Given the description of an element on the screen output the (x, y) to click on. 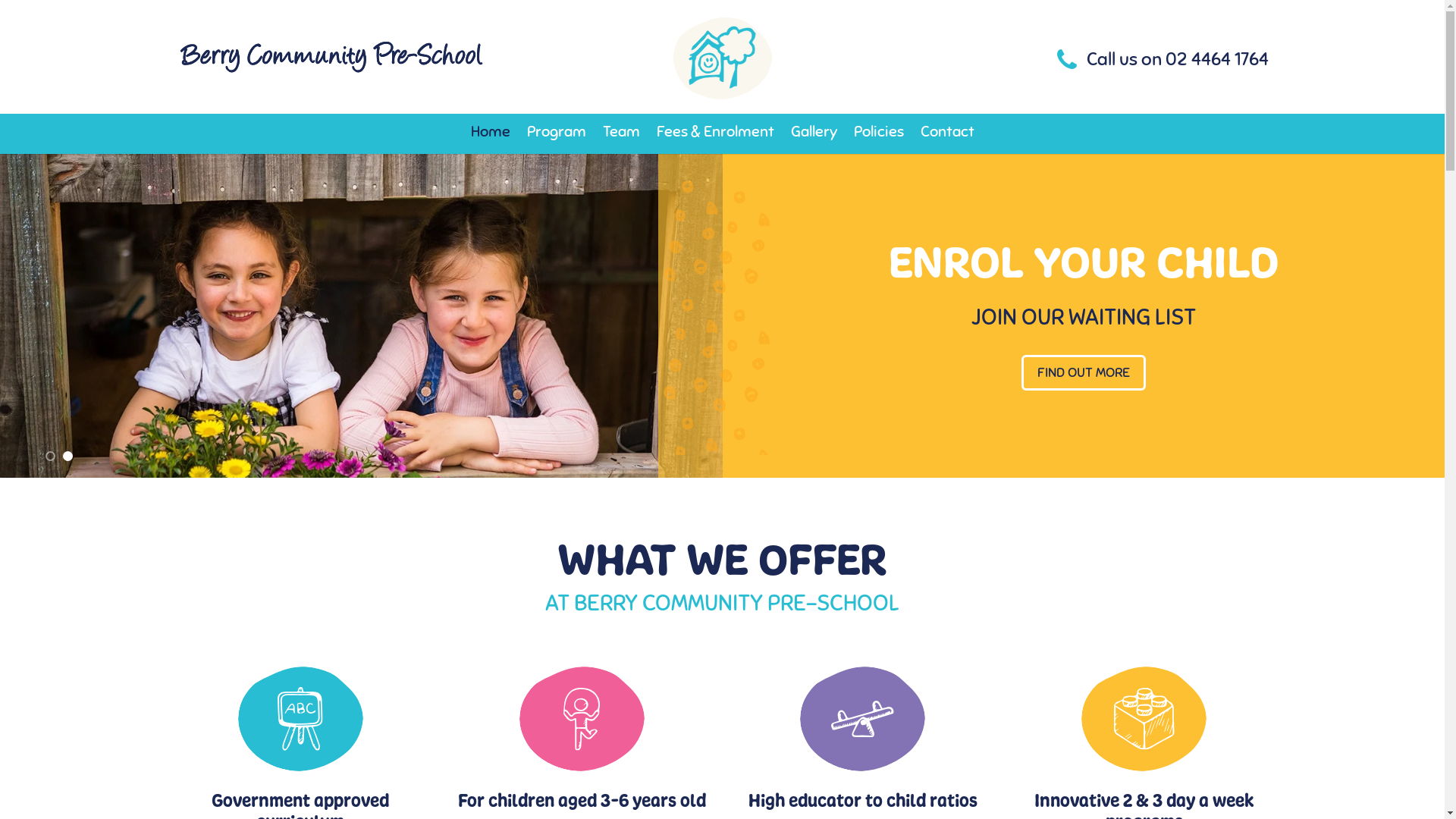
1 Element type: text (50, 456)
FIND OUT MORE Element type: text (1083, 372)
Team Element type: text (620, 131)
Home Element type: text (489, 131)
ENROL YOUR CHILD Element type: text (1083, 263)
Gallery Element type: text (813, 131)
Program Element type: text (555, 131)
Policies Element type: text (878, 131)
Contact Element type: text (947, 131)
Fees & Enrolment Element type: text (715, 131)
2 Element type: text (67, 456)
02 4464 1764 Element type: text (1215, 58)
